Given the description of an element on the screen output the (x, y) to click on. 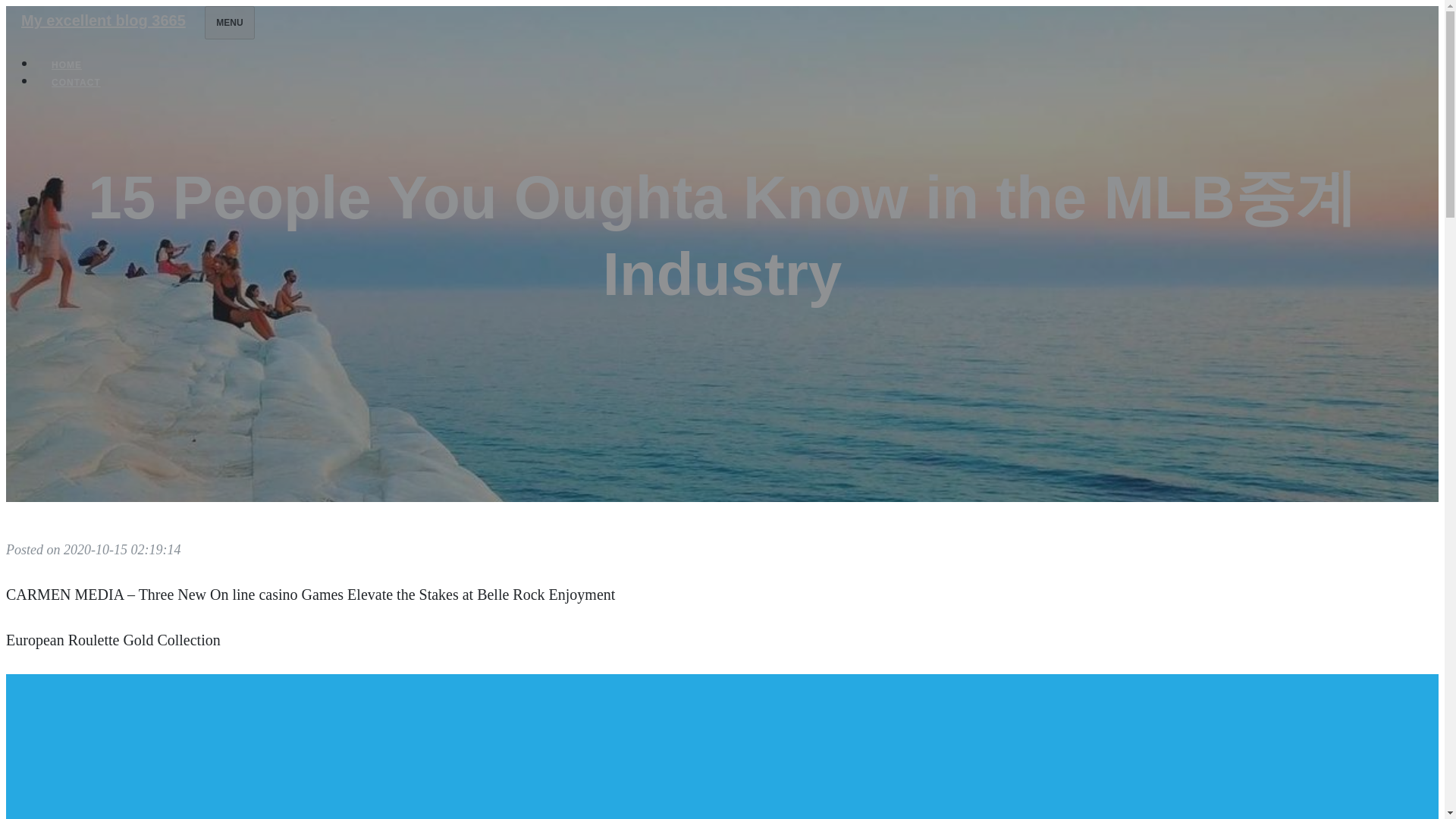
CONTACT (76, 82)
HOME (66, 64)
MENU (229, 22)
My excellent blog 3665 (102, 20)
